Given the description of an element on the screen output the (x, y) to click on. 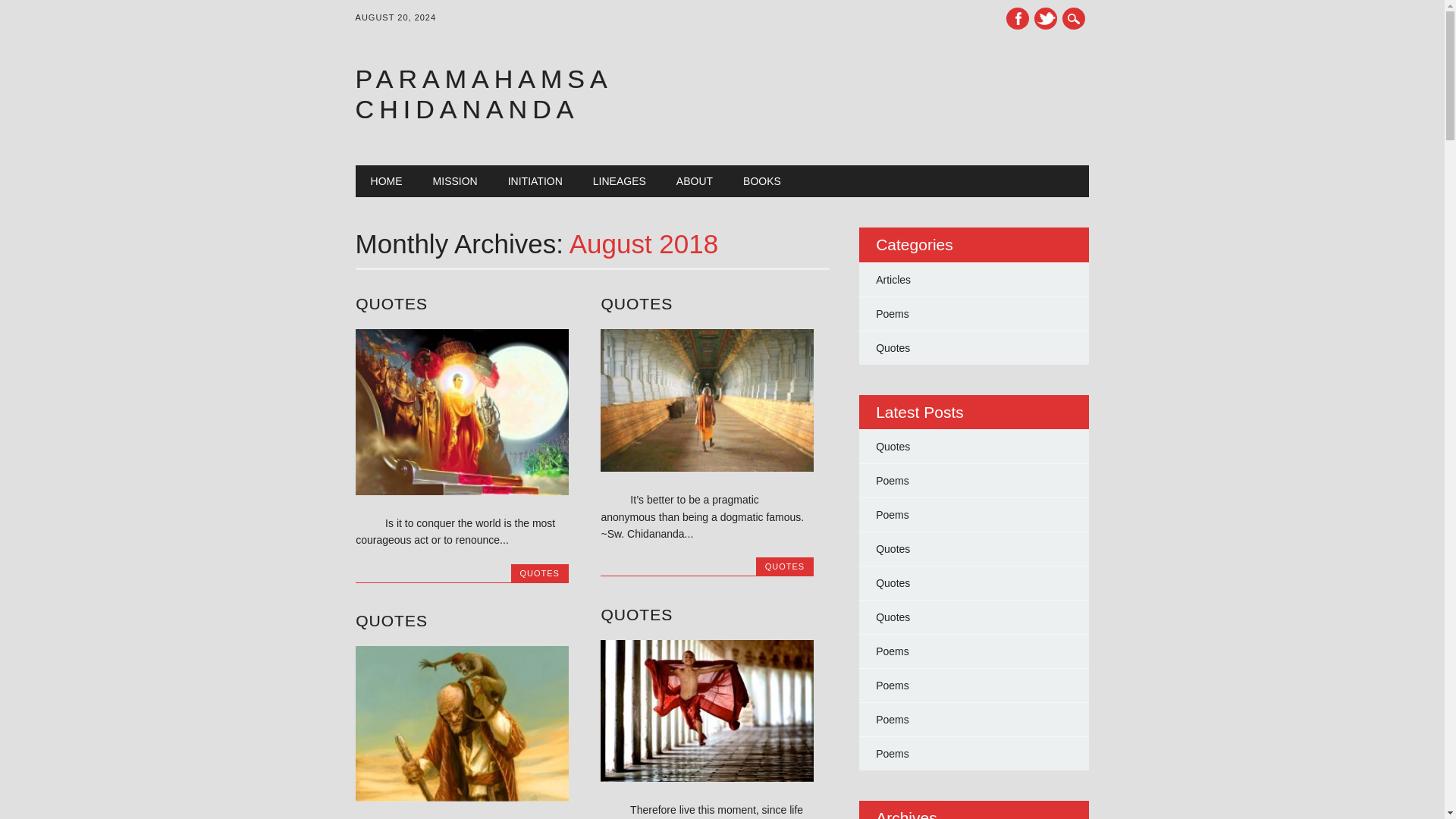
Twitter (1045, 18)
INITIATION (535, 181)
Permalink to Quotes (391, 620)
MISSION (455, 181)
QUOTES (539, 573)
LINEAGES (619, 181)
QUOTES (635, 614)
Permalink to Quotes (635, 614)
Quotes (893, 347)
Poems (892, 313)
